Given the description of an element on the screen output the (x, y) to click on. 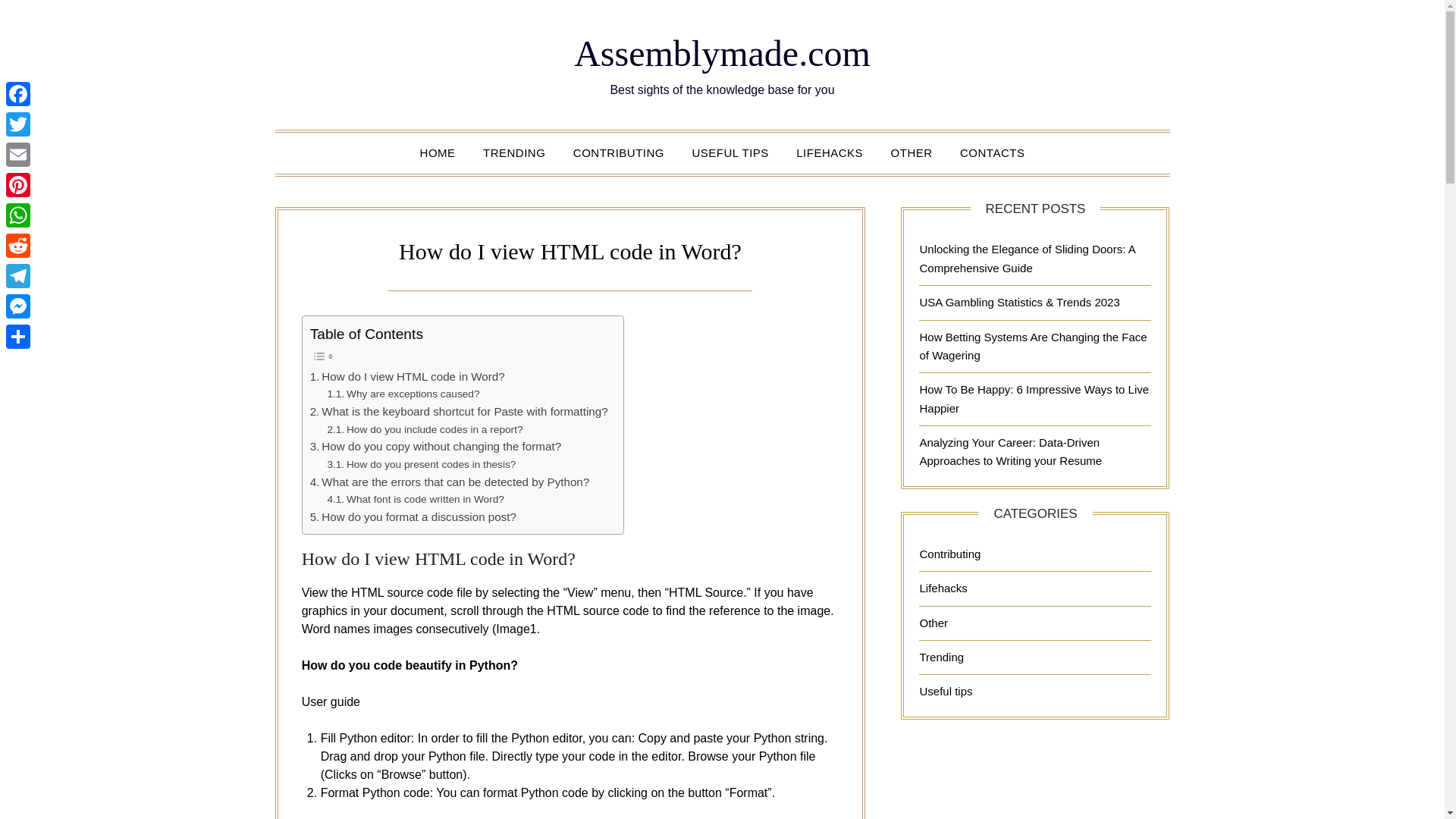
What are the errors that can be detected by Python? (449, 482)
CONTACTS (991, 152)
How do you format a discussion post? (413, 516)
What are the errors that can be detected by Python? (449, 482)
How do you format a discussion post? (413, 516)
LIFEHACKS (829, 152)
OTHER (911, 152)
How do you copy without changing the format? (435, 446)
How To Be Happy: 6 Impressive Ways to Live Happier (1033, 398)
How do you copy without changing the format? (435, 446)
How do you include codes in a report? (424, 429)
Assemblymade.com (721, 53)
Trending (940, 656)
How do I view HTML code in Word? (407, 376)
